Given the description of an element on the screen output the (x, y) to click on. 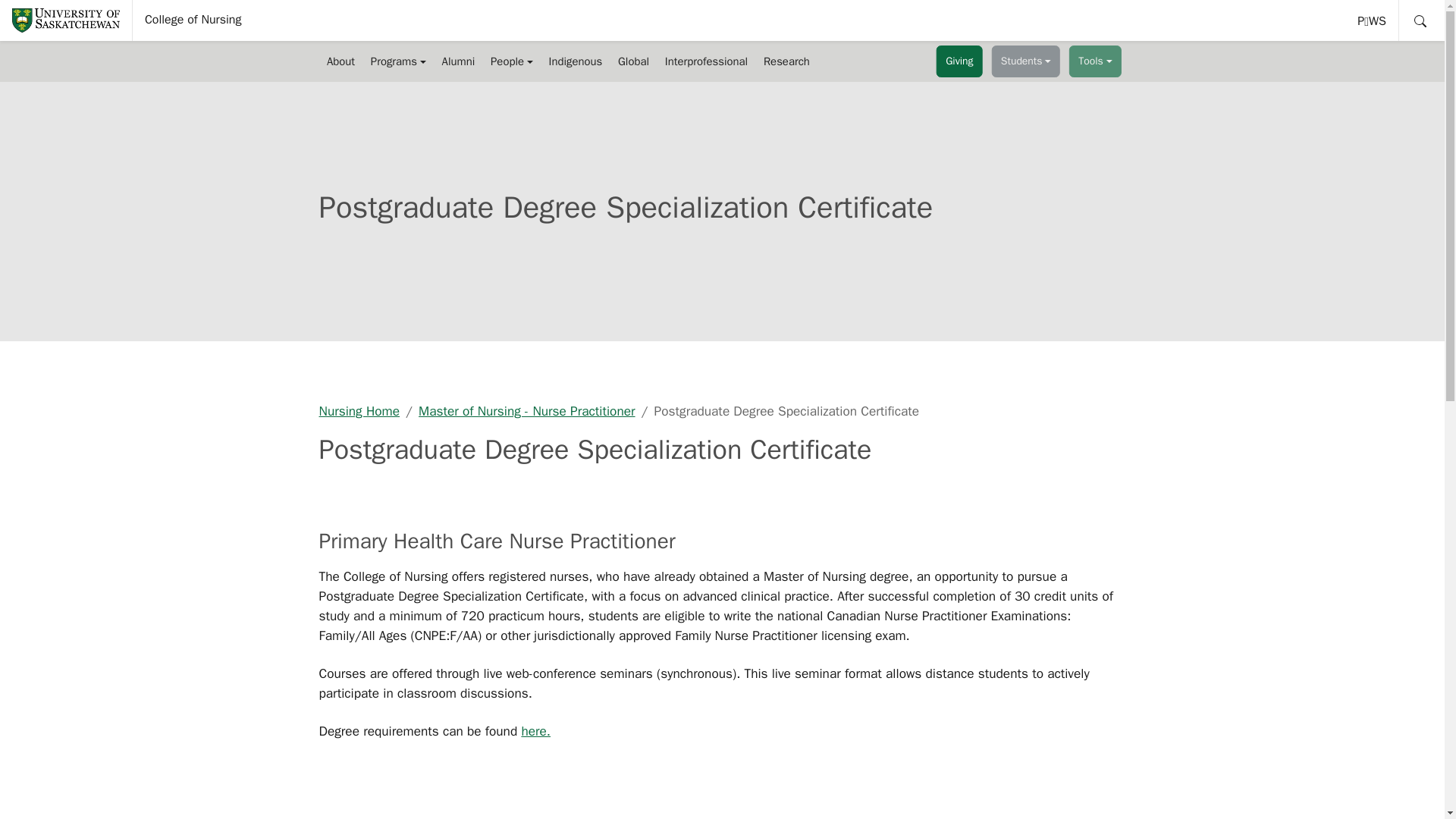
Research (786, 60)
Interprofessional (705, 60)
Indigenous (575, 60)
About (340, 60)
Giving (959, 60)
Students (1026, 60)
Global (634, 60)
Alumni (457, 60)
Programs (1372, 20)
